Given the description of an element on the screen output the (x, y) to click on. 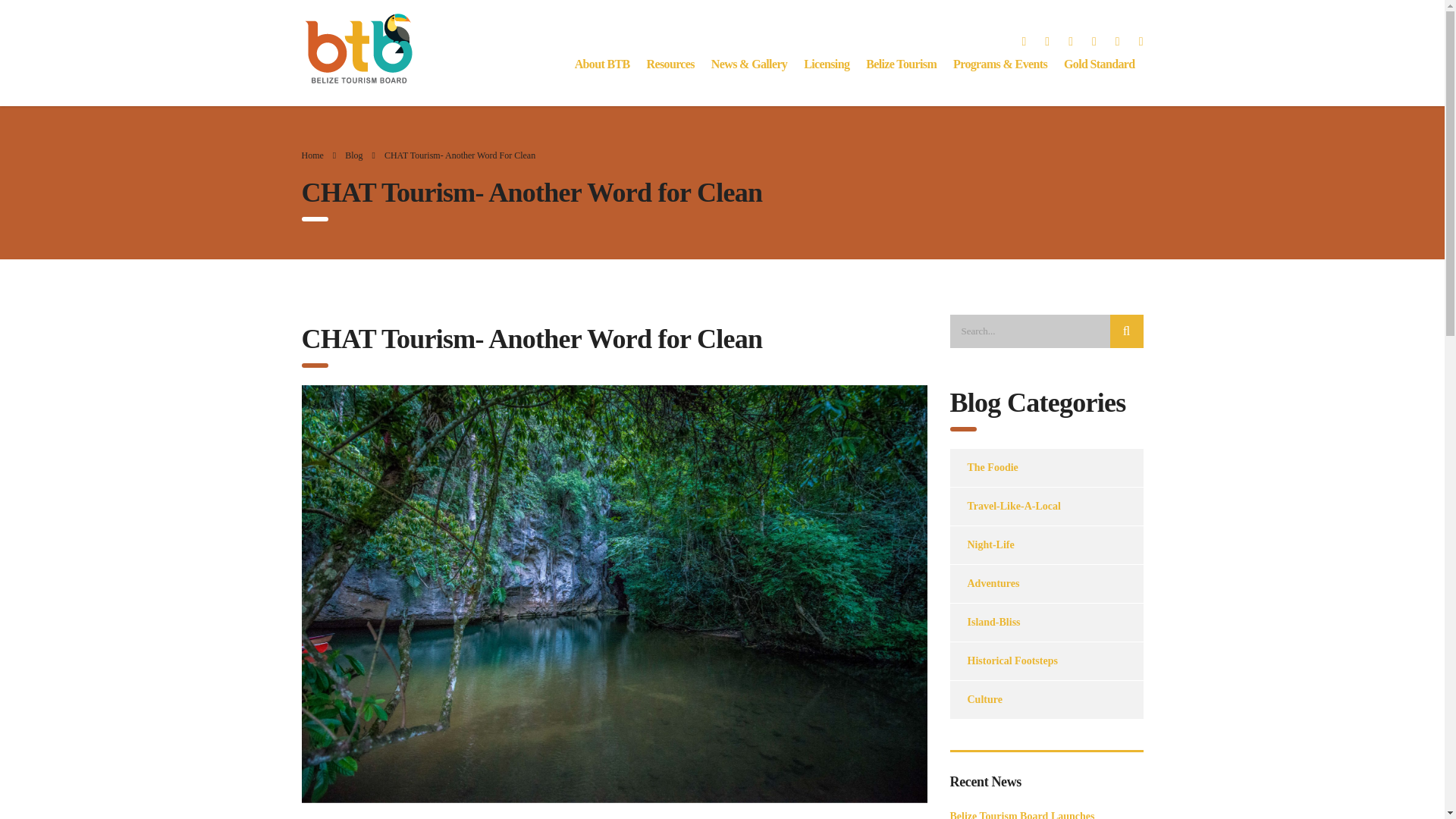
About BTB (602, 64)
Go to the Blog Categories archives. (353, 154)
Go to BTB. (312, 154)
Resources (671, 64)
